Given the description of an element on the screen output the (x, y) to click on. 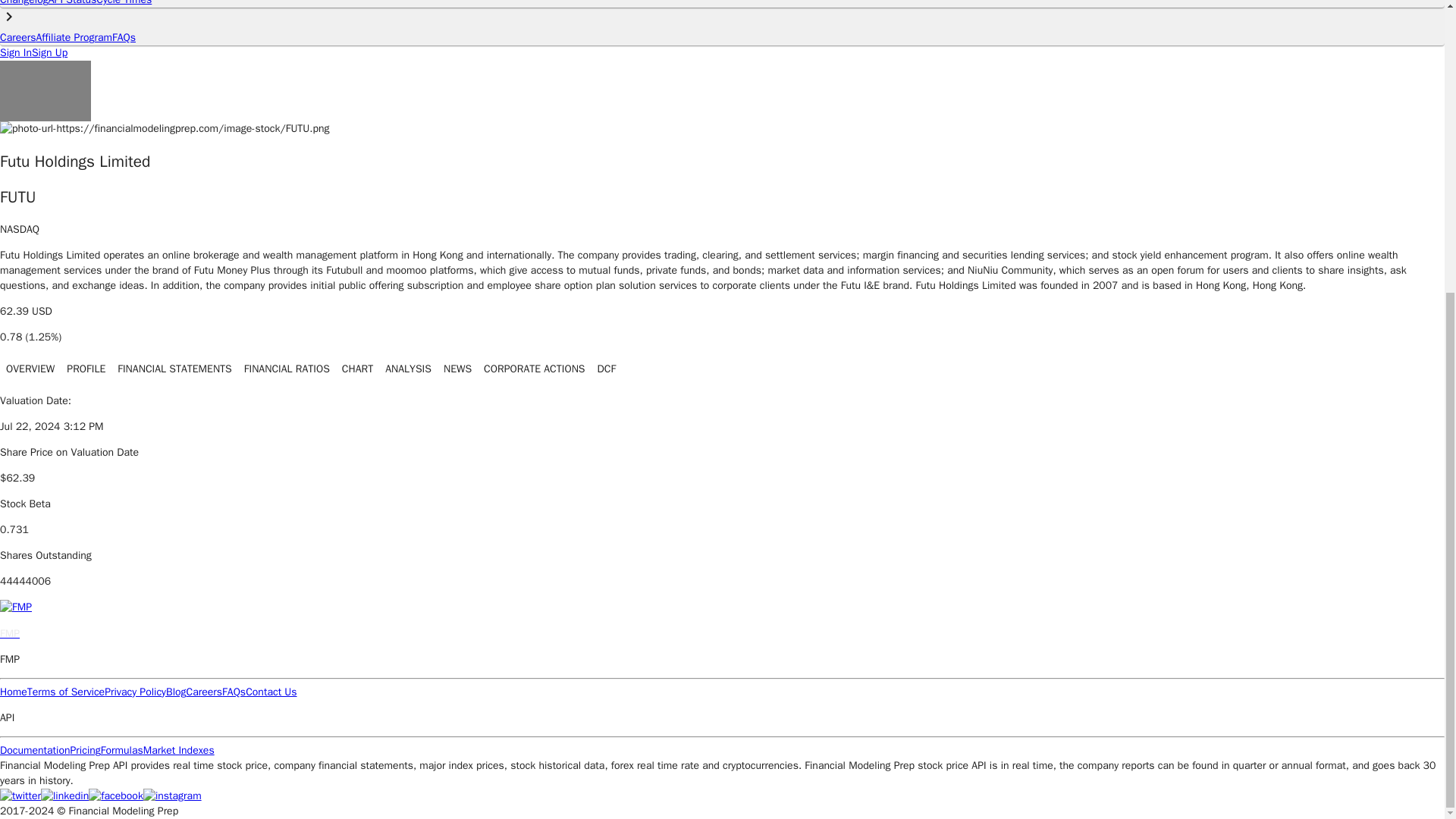
FAQs (123, 37)
Cycle Times (123, 2)
API Status (72, 2)
Affiliate Program (74, 37)
Sign In (16, 51)
Sign Up (49, 51)
Changelog (24, 2)
OVERVIEW (30, 369)
Careers (18, 37)
